Given the description of an element on the screen output the (x, y) to click on. 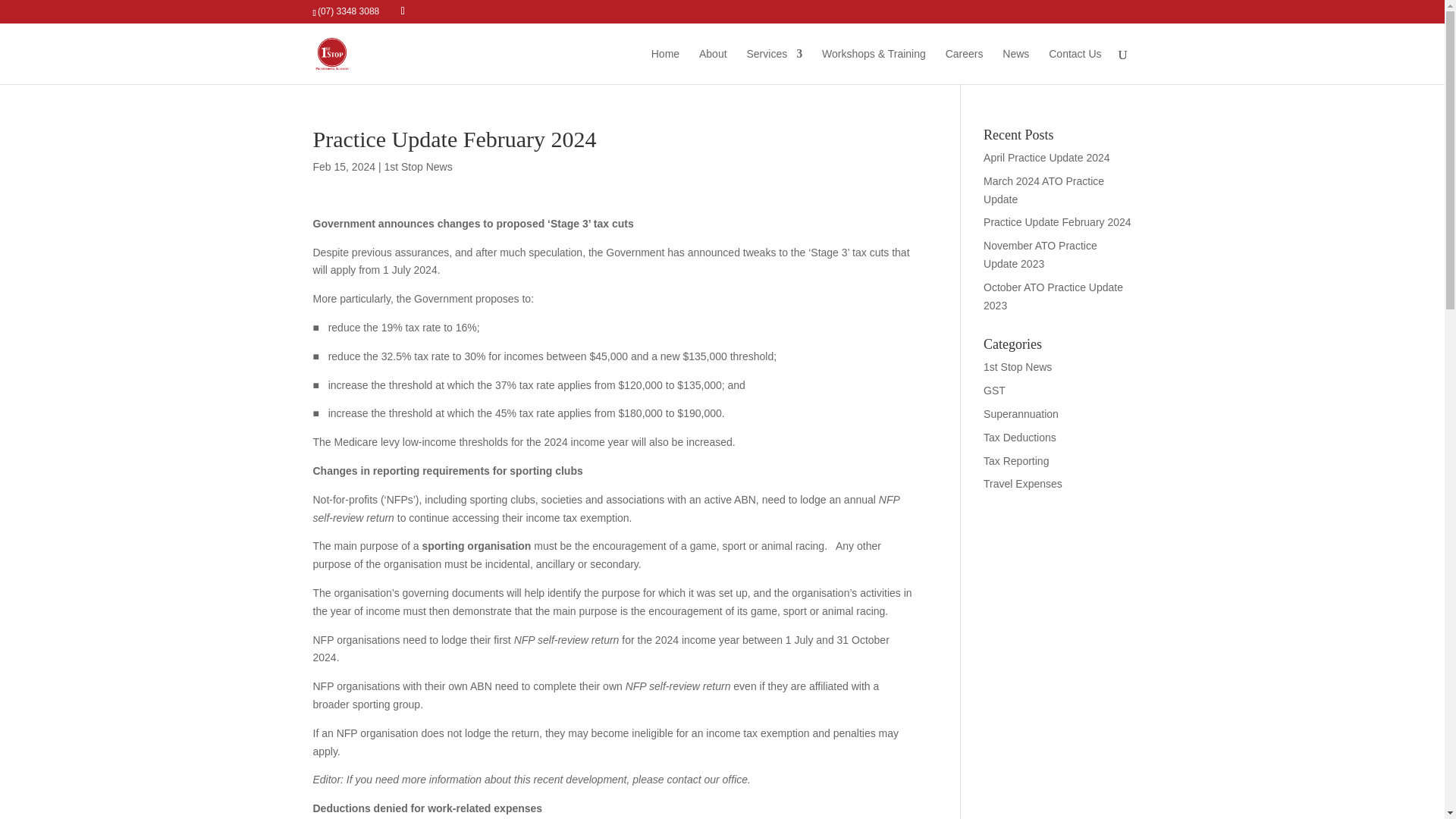
1st Stop News (417, 166)
March 2024 ATO Practice Update (1043, 190)
Travel Expenses (1023, 483)
Tax Reporting (1016, 460)
Contact Us (1074, 66)
November ATO Practice Update 2023 (1040, 254)
Careers (964, 66)
1st Stop News (1017, 367)
October ATO Practice Update 2023 (1053, 296)
Superannuation (1021, 413)
Services (773, 66)
Practice Update February 2024 (1057, 222)
GST (995, 390)
April Practice Update 2024 (1046, 157)
Tax Deductions (1020, 437)
